Given the description of an element on the screen output the (x, y) to click on. 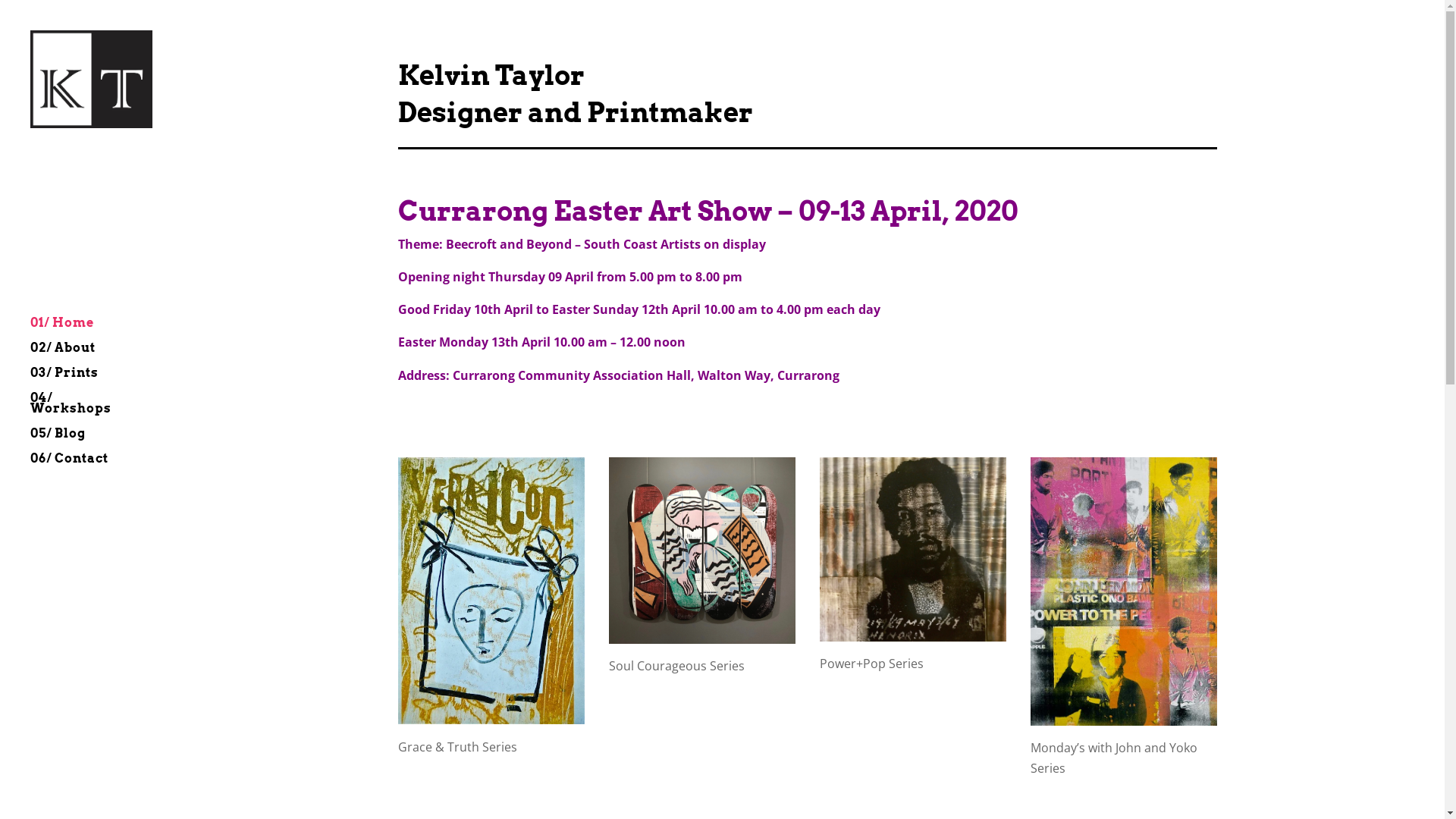
04/ Workshops Element type: text (98, 410)
01/ Home Element type: text (98, 329)
03/ Prints Element type: text (98, 379)
05/ Blog Element type: text (98, 440)
02/ About Element type: text (98, 354)
06/ Contact Element type: text (98, 465)
